Given the description of an element on the screen output the (x, y) to click on. 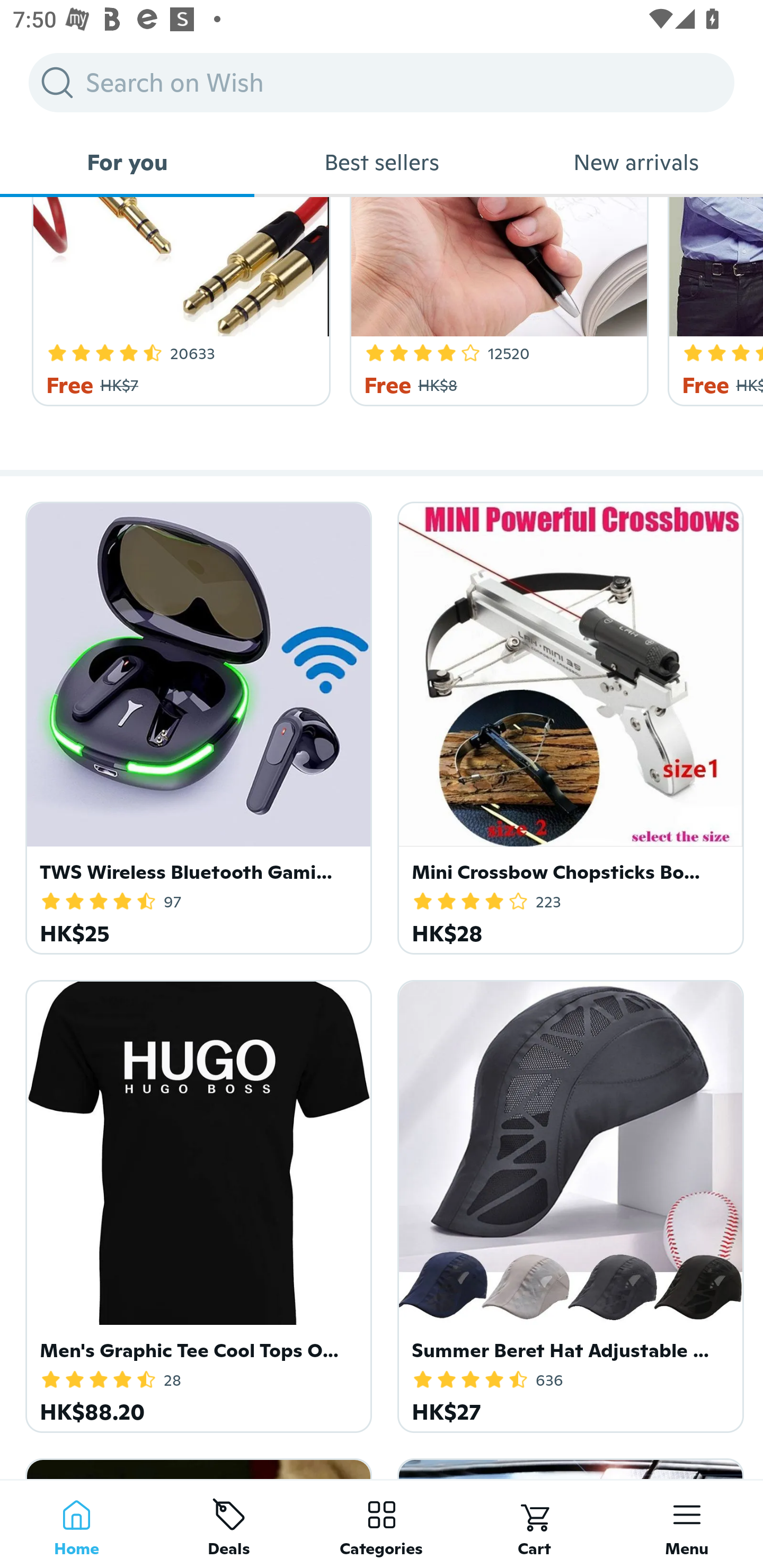
Search on Wish (381, 82)
For you (127, 161)
Best sellers (381, 161)
New arrivals (635, 161)
4.3 Star Rating 20633 Free HK$7 (177, 301)
3.9 Star Rating 12520 Free HK$8 (495, 301)
Home (76, 1523)
Deals (228, 1523)
Categories (381, 1523)
Cart (533, 1523)
Menu (686, 1523)
